Given the description of an element on the screen output the (x, y) to click on. 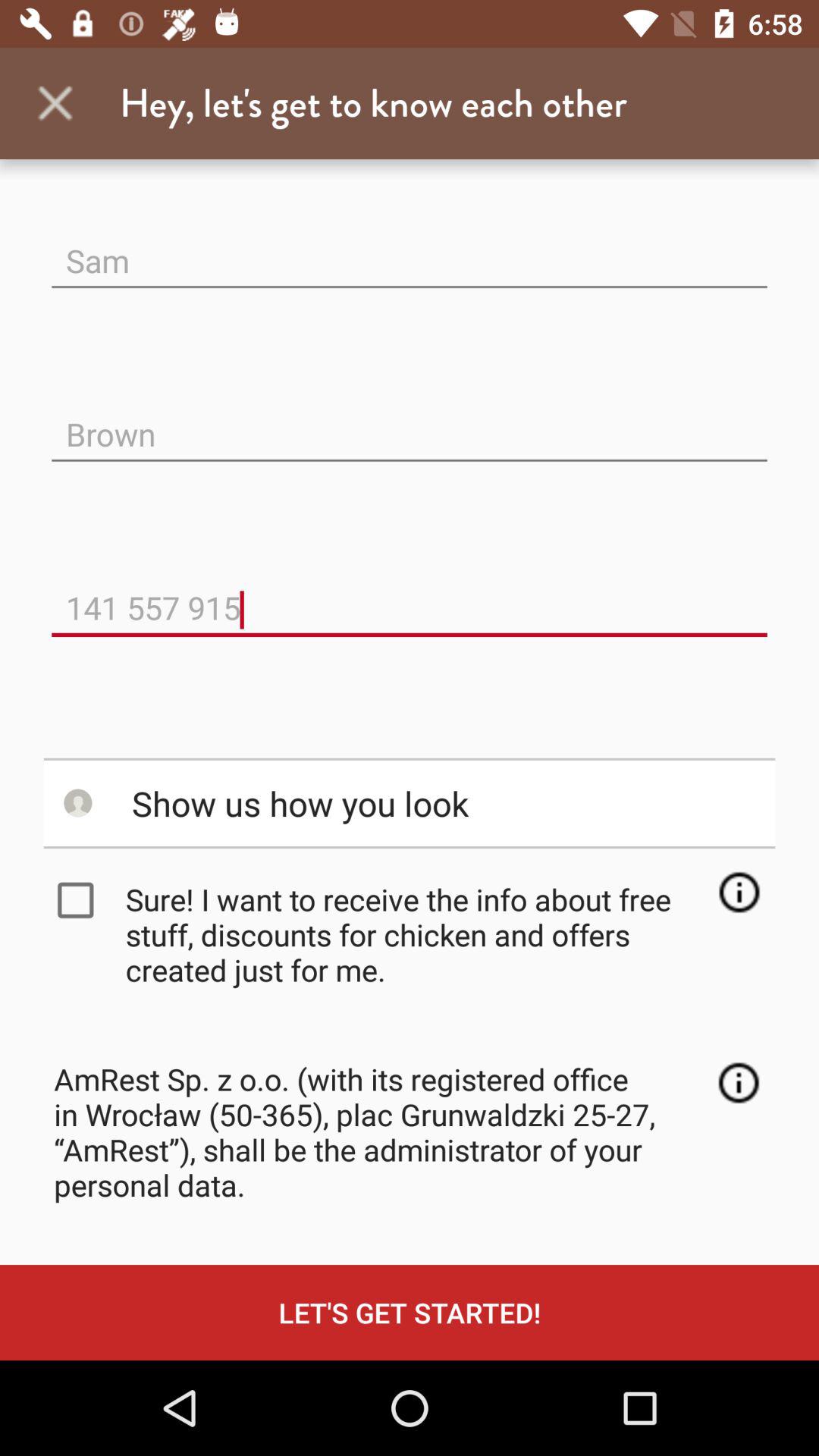
launch the item to the right of amrest sp z item (738, 1082)
